Given the description of an element on the screen output the (x, y) to click on. 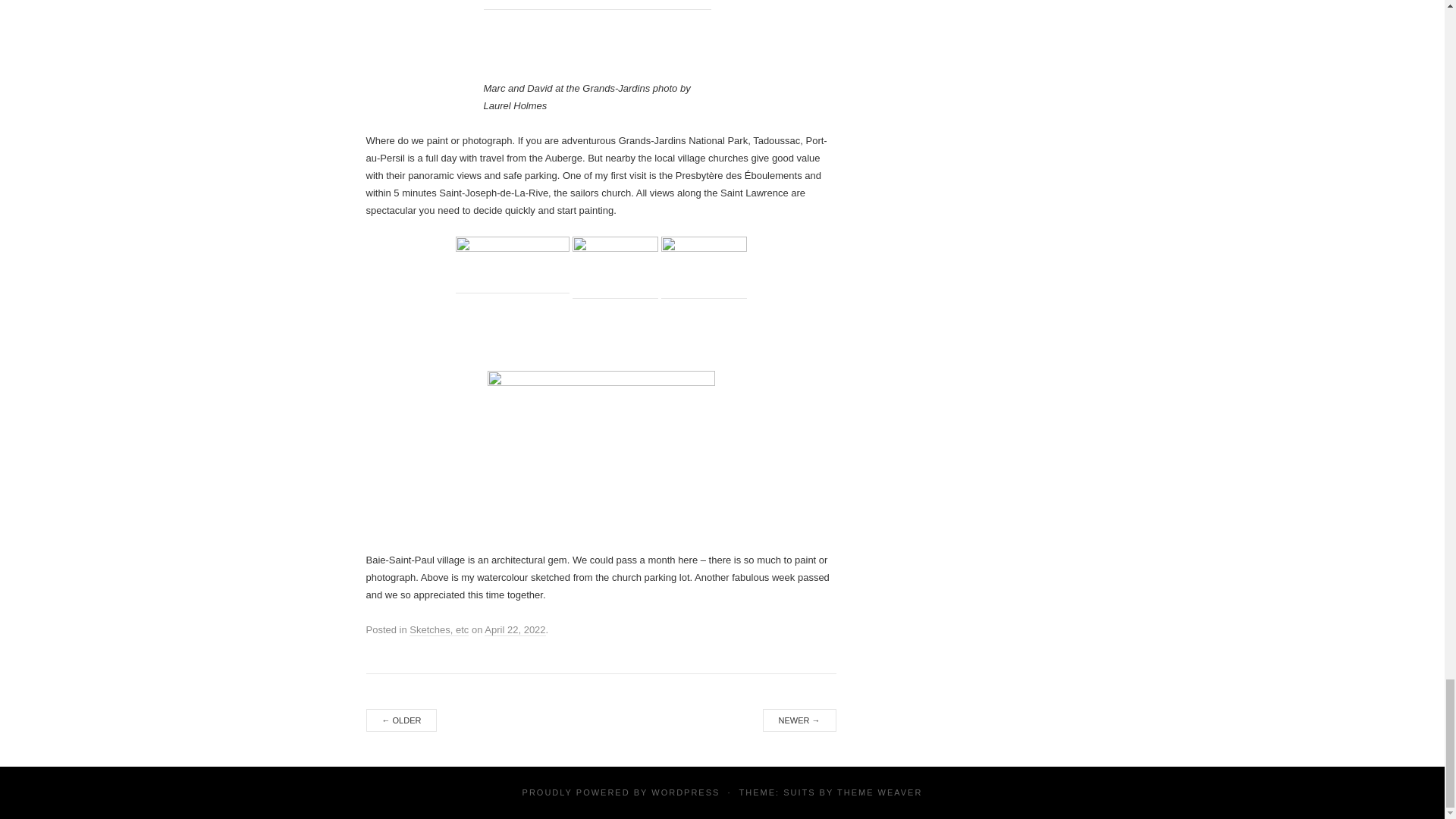
Theme Developer (879, 791)
8:21 am (514, 630)
Semantic Personal Publishing Platform (684, 791)
